Given the description of an element on the screen output the (x, y) to click on. 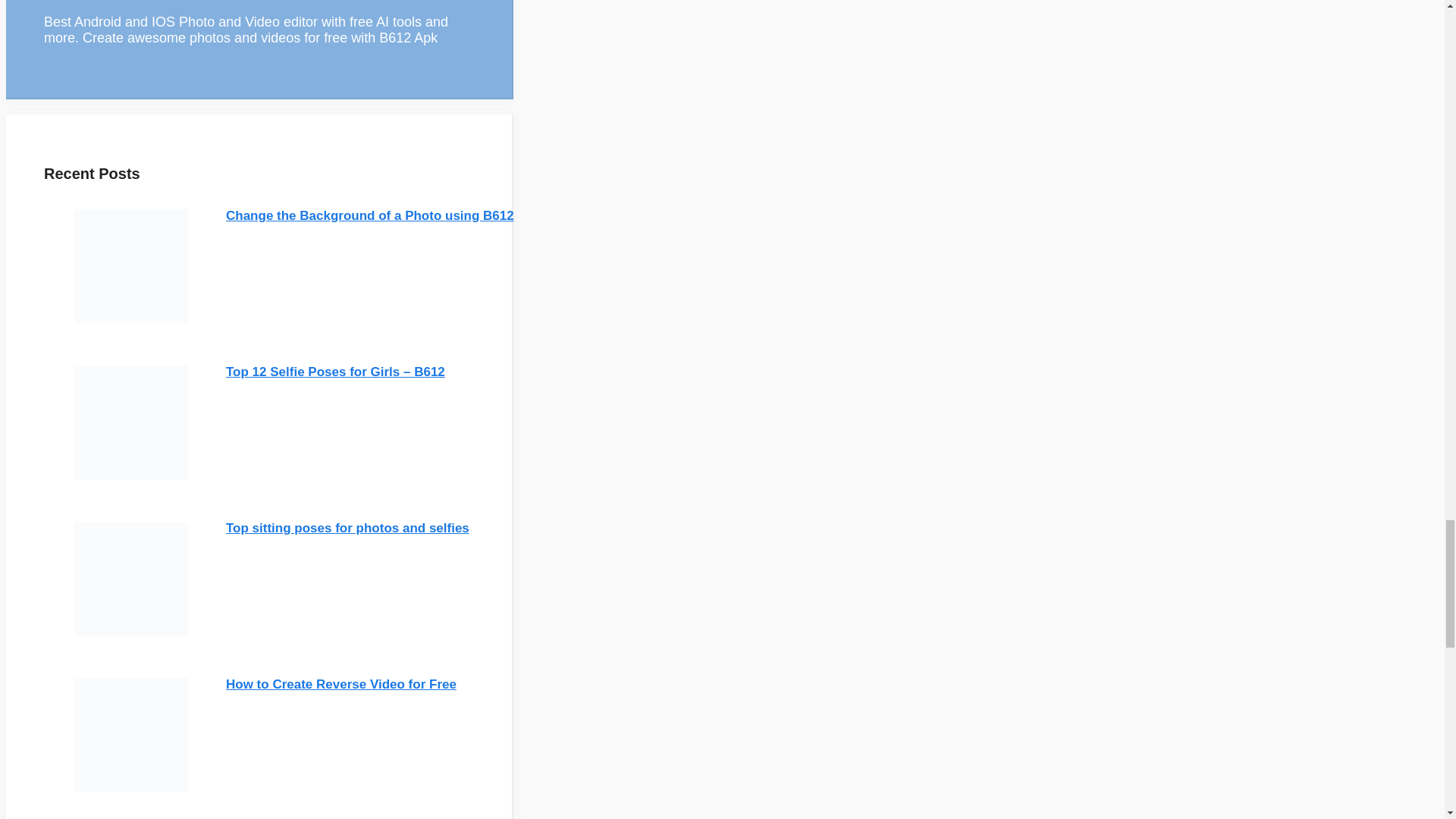
Top sitting poses for photos and selfies (346, 527)
Change the Background of a Photo using B612 (369, 214)
How to Create Reverse Video for Free (341, 683)
